Given the description of an element on the screen output the (x, y) to click on. 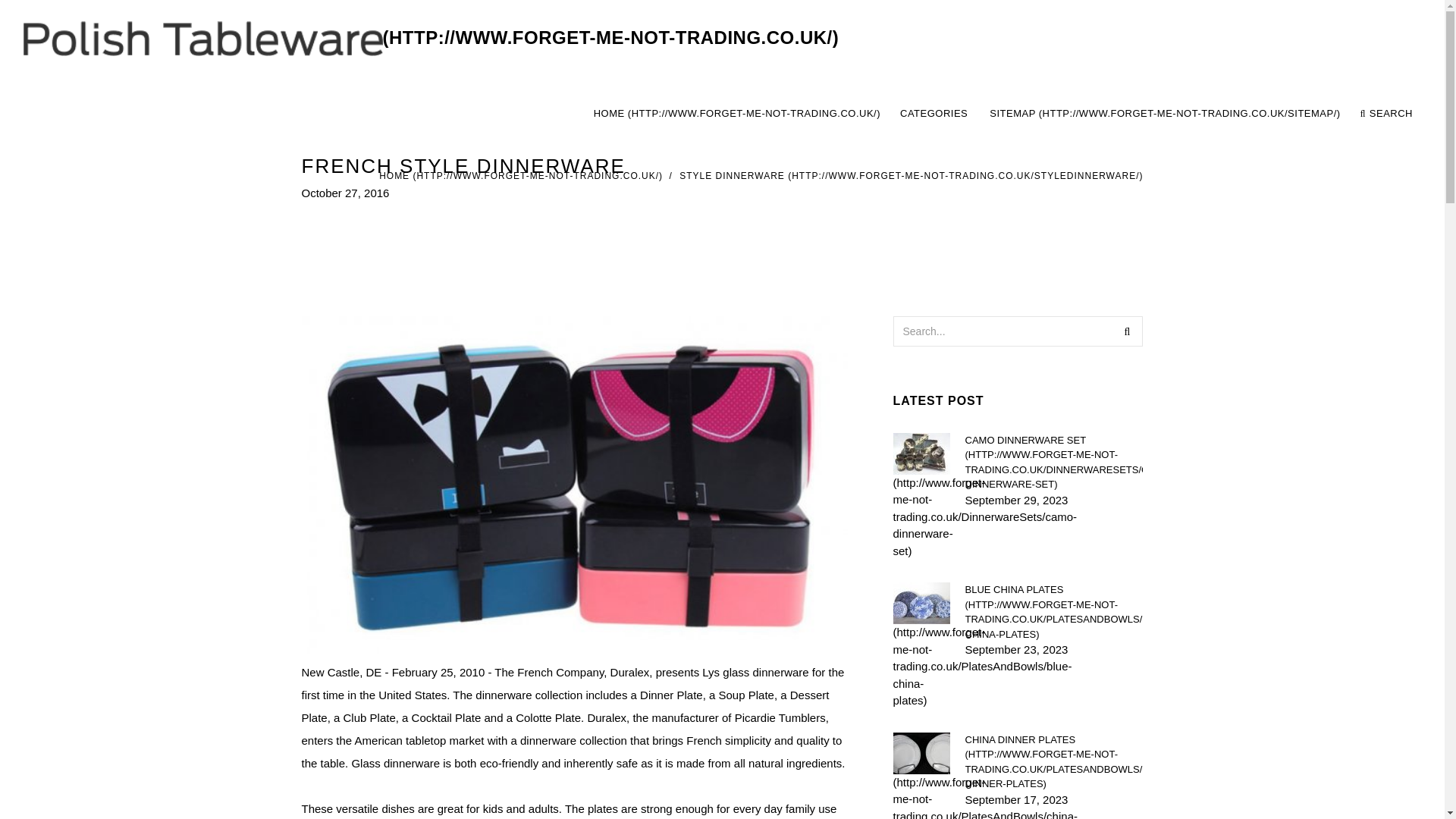
CATEGORIES (934, 113)
Search (1126, 330)
SEARCH (1386, 113)
STYLE DINNERWARE (1002, 113)
HOME (910, 175)
Polish Tableware (520, 175)
SITEMAP (430, 38)
CHINA DINNER PLATES (1164, 113)
CAMO DINNERWARE SET (1052, 761)
